Given the description of an element on the screen output the (x, y) to click on. 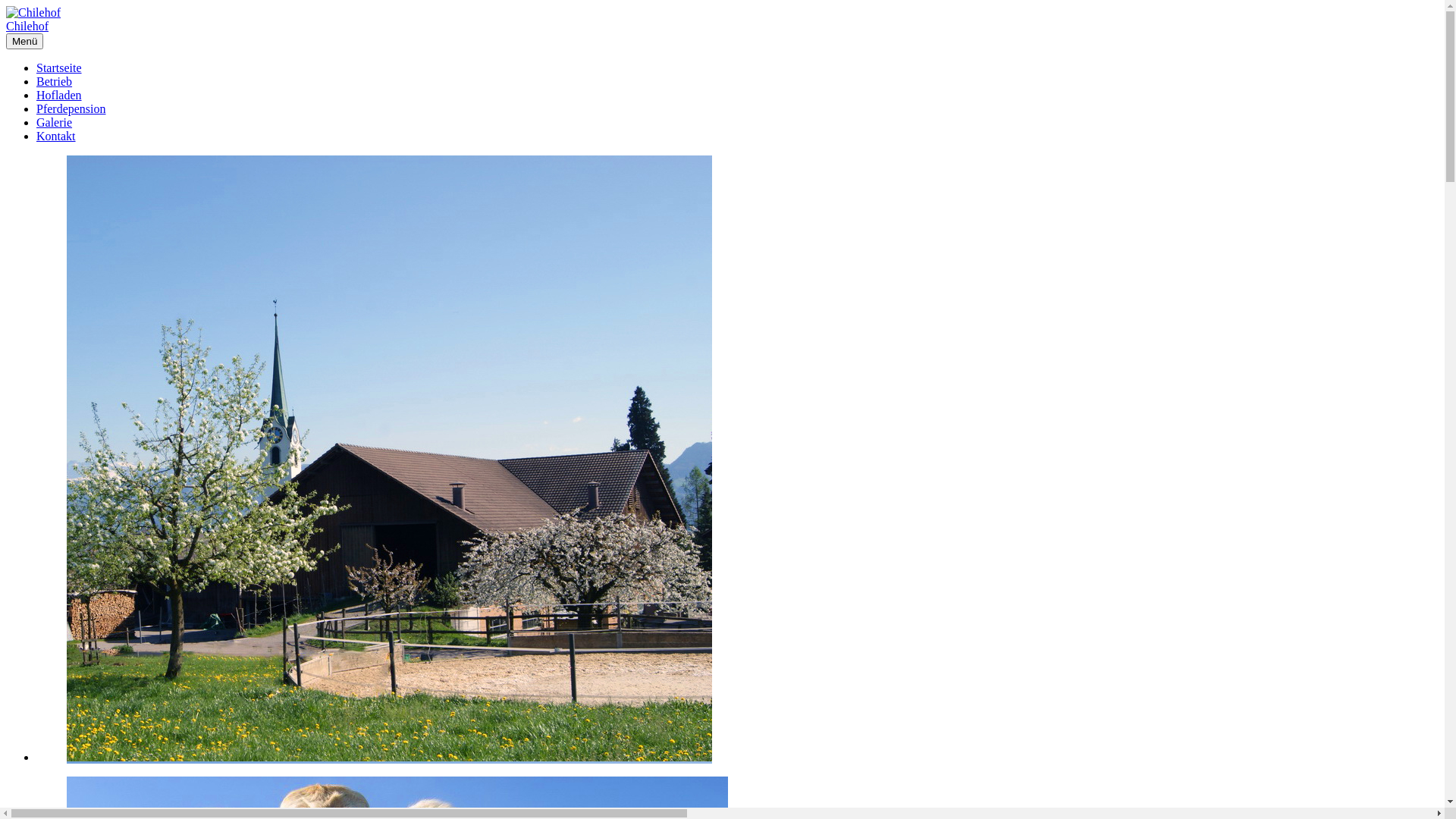
Chilehof Element type: text (27, 25)
Chilehof Element type: hover (33, 12)
Galerie Element type: text (54, 122)
Startseite Element type: text (58, 67)
Betrieb Element type: text (54, 81)
Hofladen Element type: text (58, 94)
Kontakt Element type: text (55, 135)
Pferdepension Element type: text (71, 108)
